Given the description of an element on the screen output the (x, y) to click on. 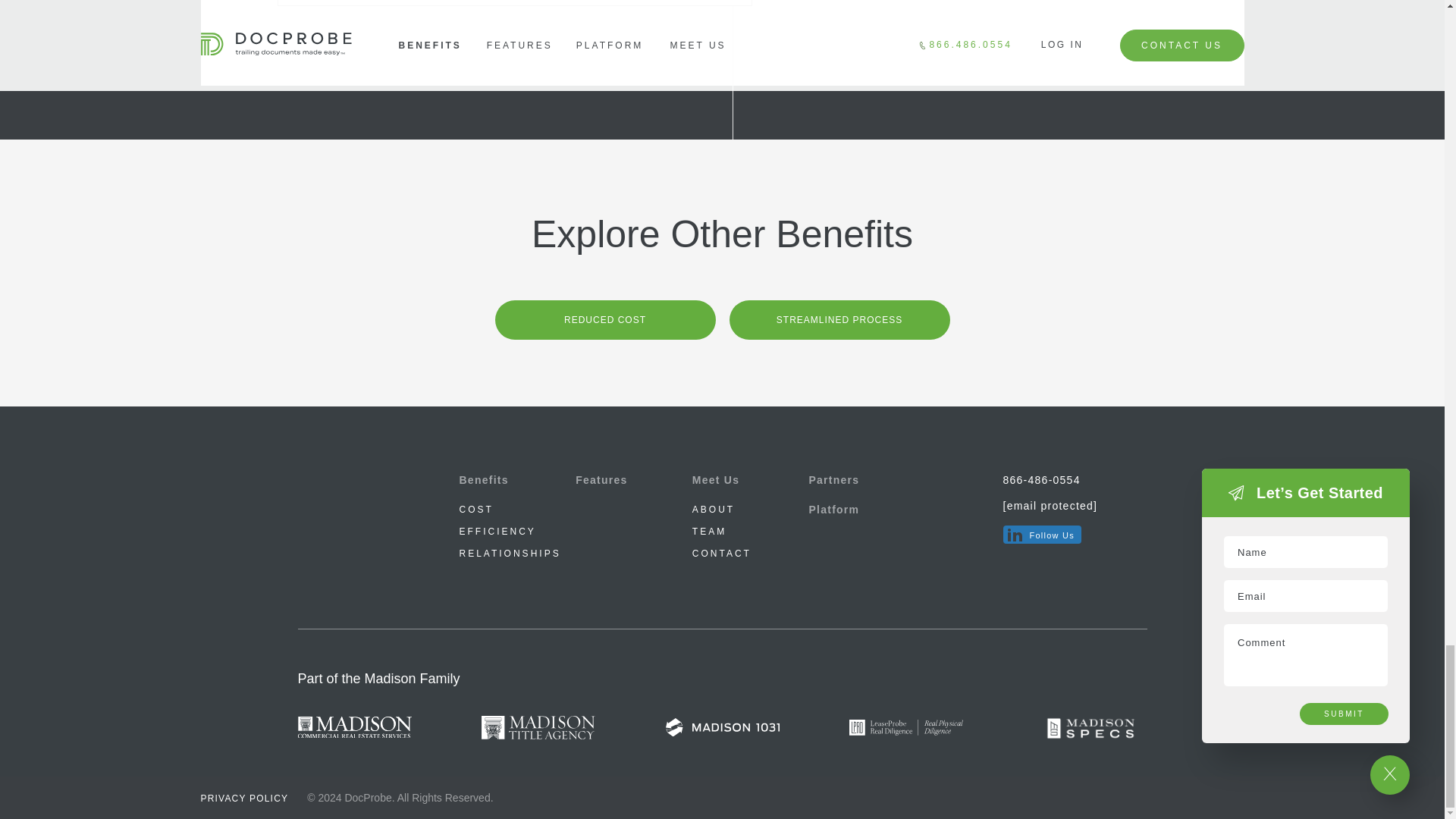
Partners (833, 480)
866-486-0554 (1075, 480)
EFFICIENCY (497, 531)
Features (601, 480)
COST (476, 509)
TEAM (709, 531)
CONTACT (722, 552)
RELATIONSHIPS (510, 552)
ABOUT (714, 509)
REDUCED COST (604, 319)
STREAMLINED PROCESS (839, 319)
Platform (833, 509)
